Given the description of an element on the screen output the (x, y) to click on. 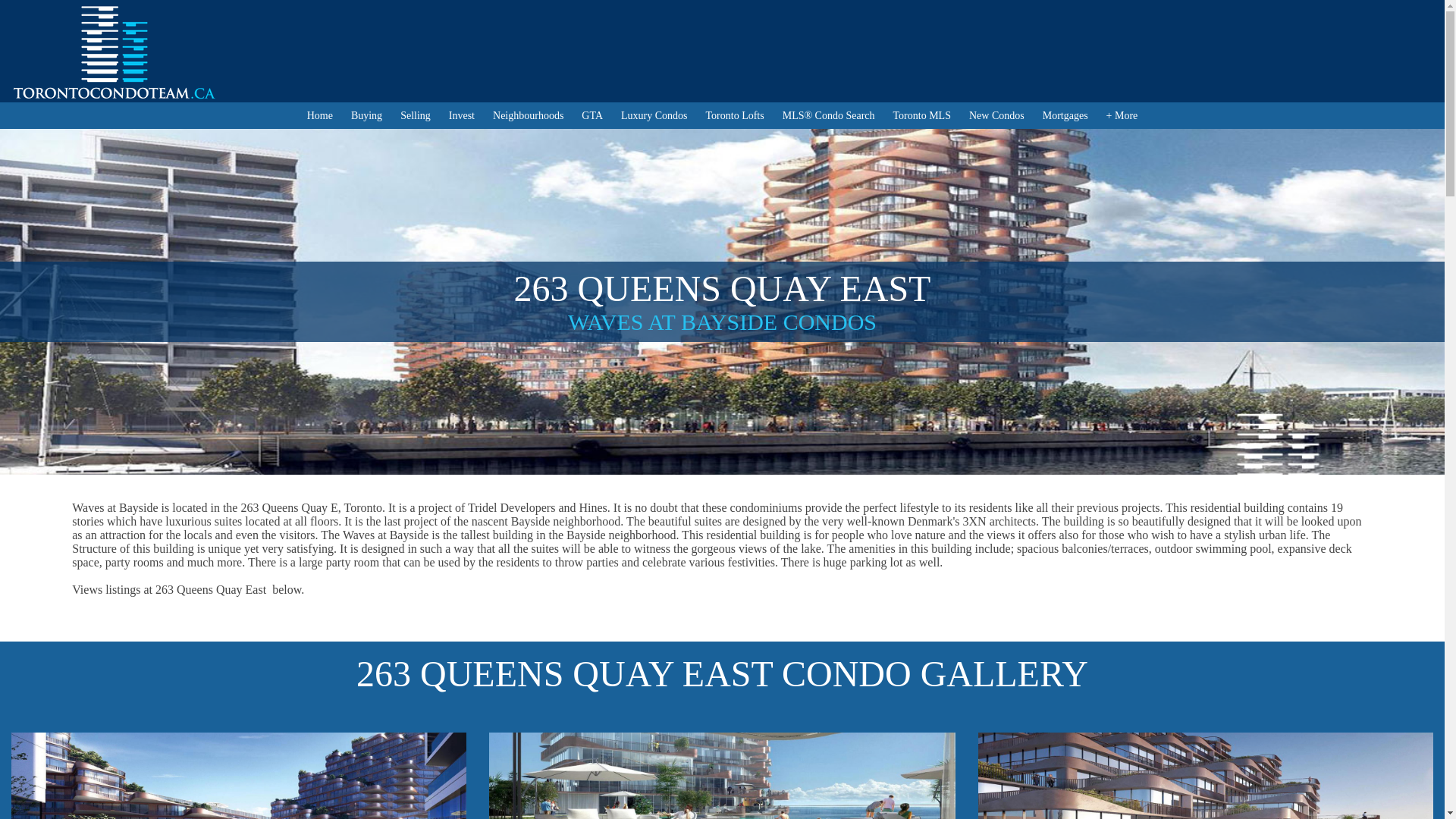
Selling (415, 115)
Buying  (366, 115)
Home (319, 115)
Toronto Condo Team (123, 51)
Buying (366, 115)
Neighbourhoods (527, 115)
Invest (461, 115)
Neighbourhoods (527, 115)
Home (319, 115)
Selling (415, 115)
